Given the description of an element on the screen output the (x, y) to click on. 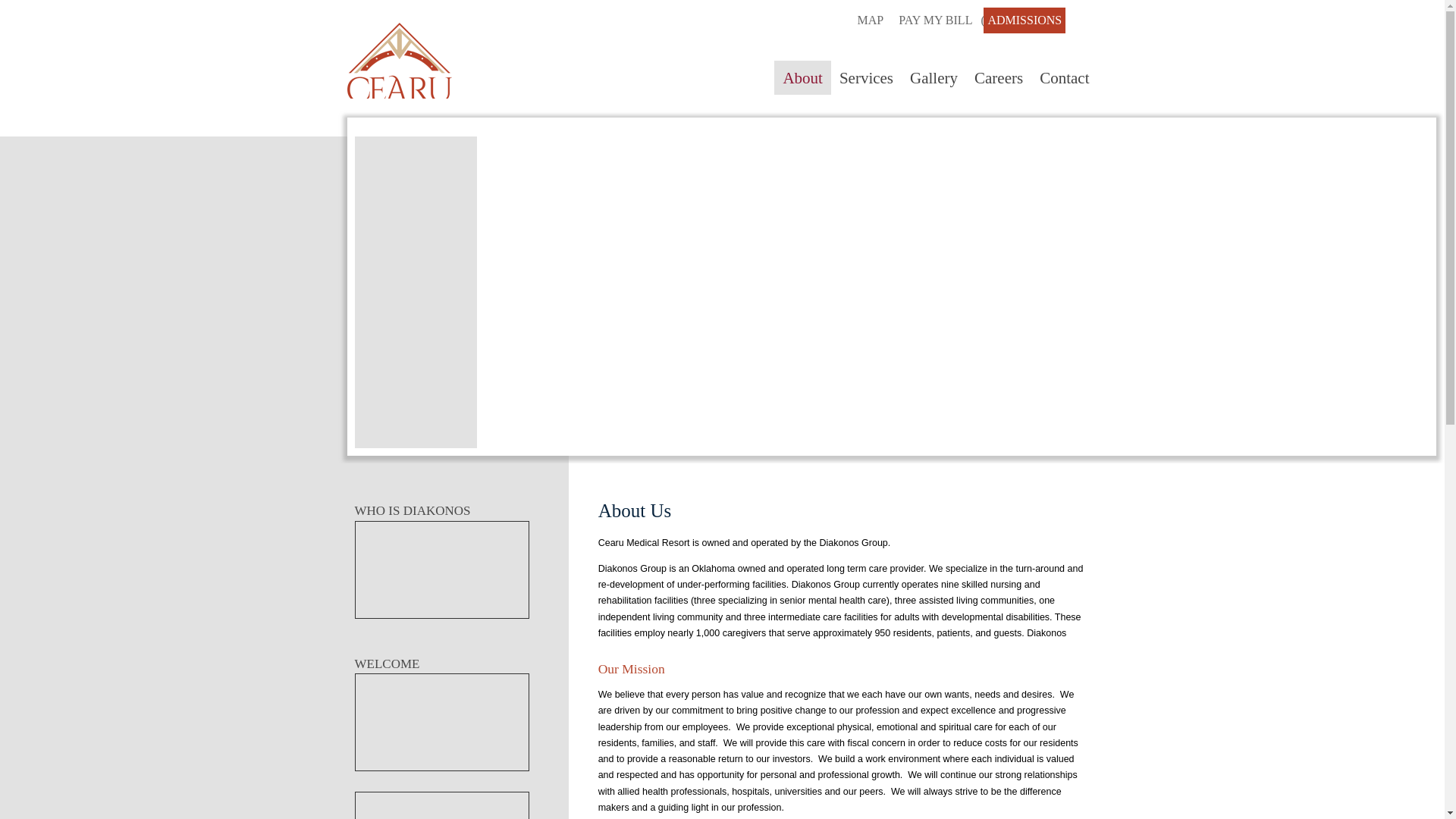
Services (866, 77)
Gallery (933, 77)
PAY MY BILL (935, 20)
Contact (1063, 77)
About (802, 77)
FACEBOOK (1078, 18)
MAP (870, 20)
ADMISSIONS (1024, 20)
Careers (998, 77)
